Given the description of an element on the screen output the (x, y) to click on. 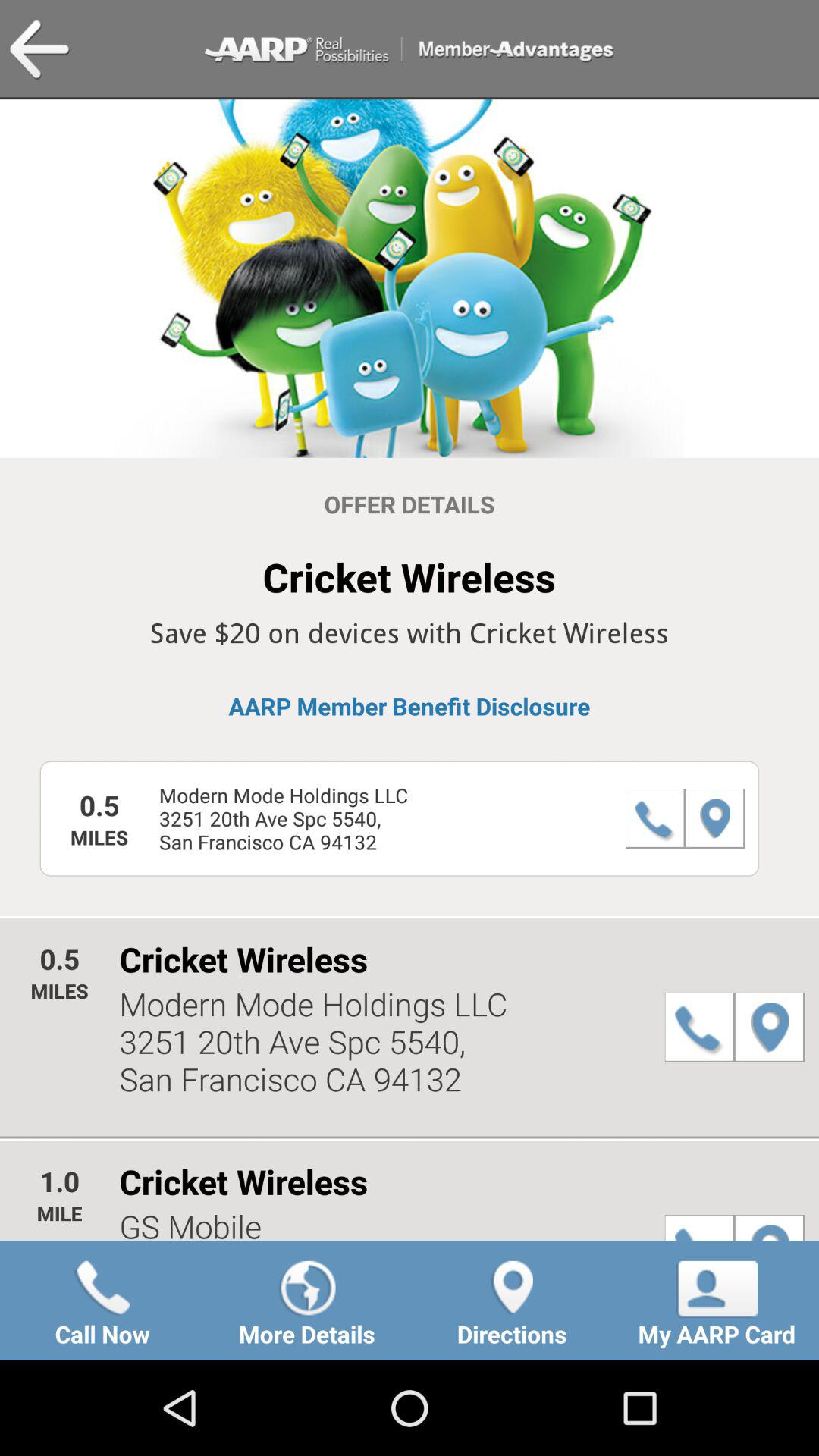
launch item above modern mode holdings icon (409, 706)
